Given the description of an element on the screen output the (x, y) to click on. 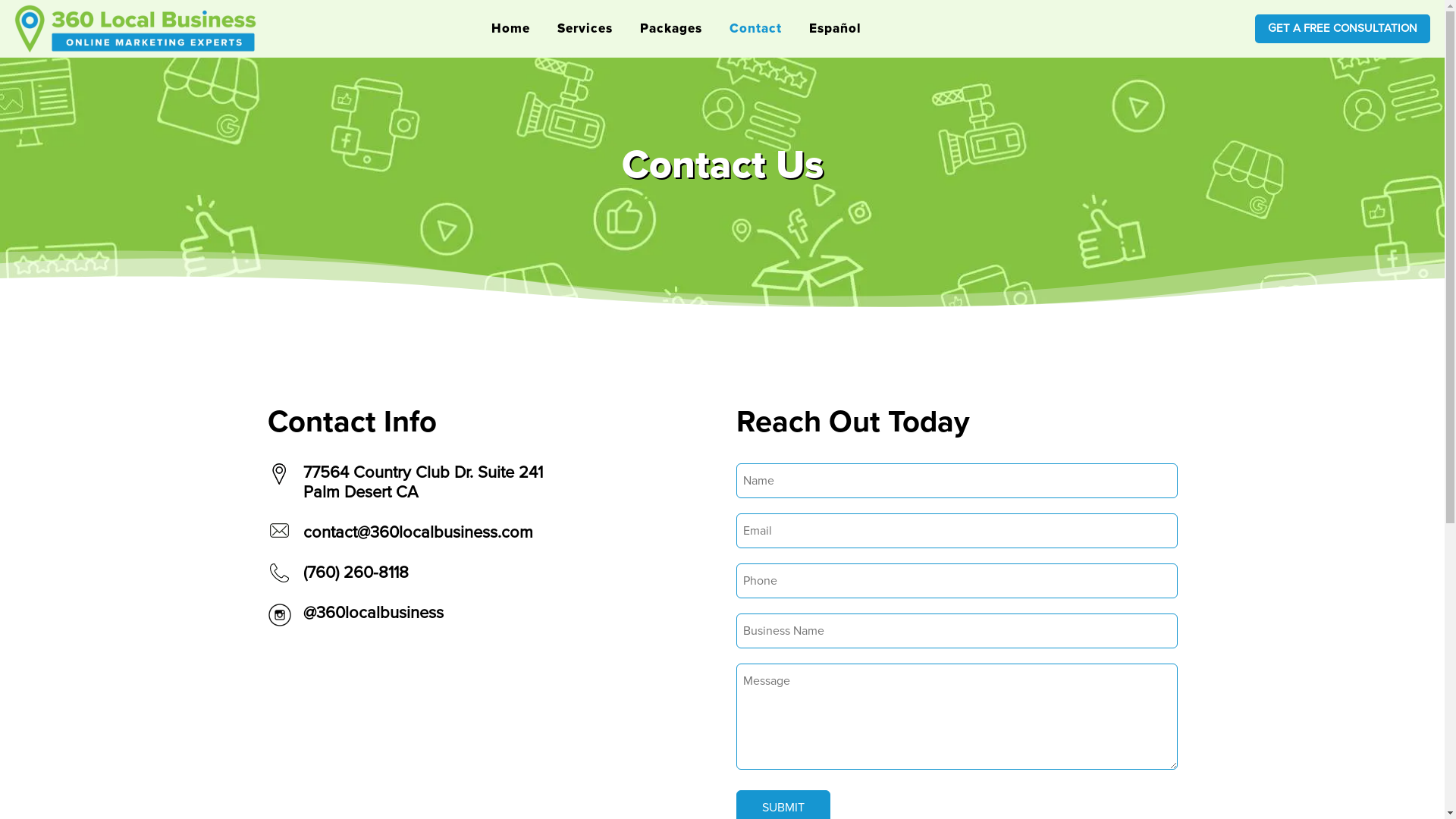
Services Element type: text (585, 28)
Contact Element type: text (755, 28)
GET A FREE CONSULTATION Element type: text (1342, 28)
Packages Element type: text (670, 28)
Home Element type: text (510, 28)
